Given the description of an element on the screen output the (x, y) to click on. 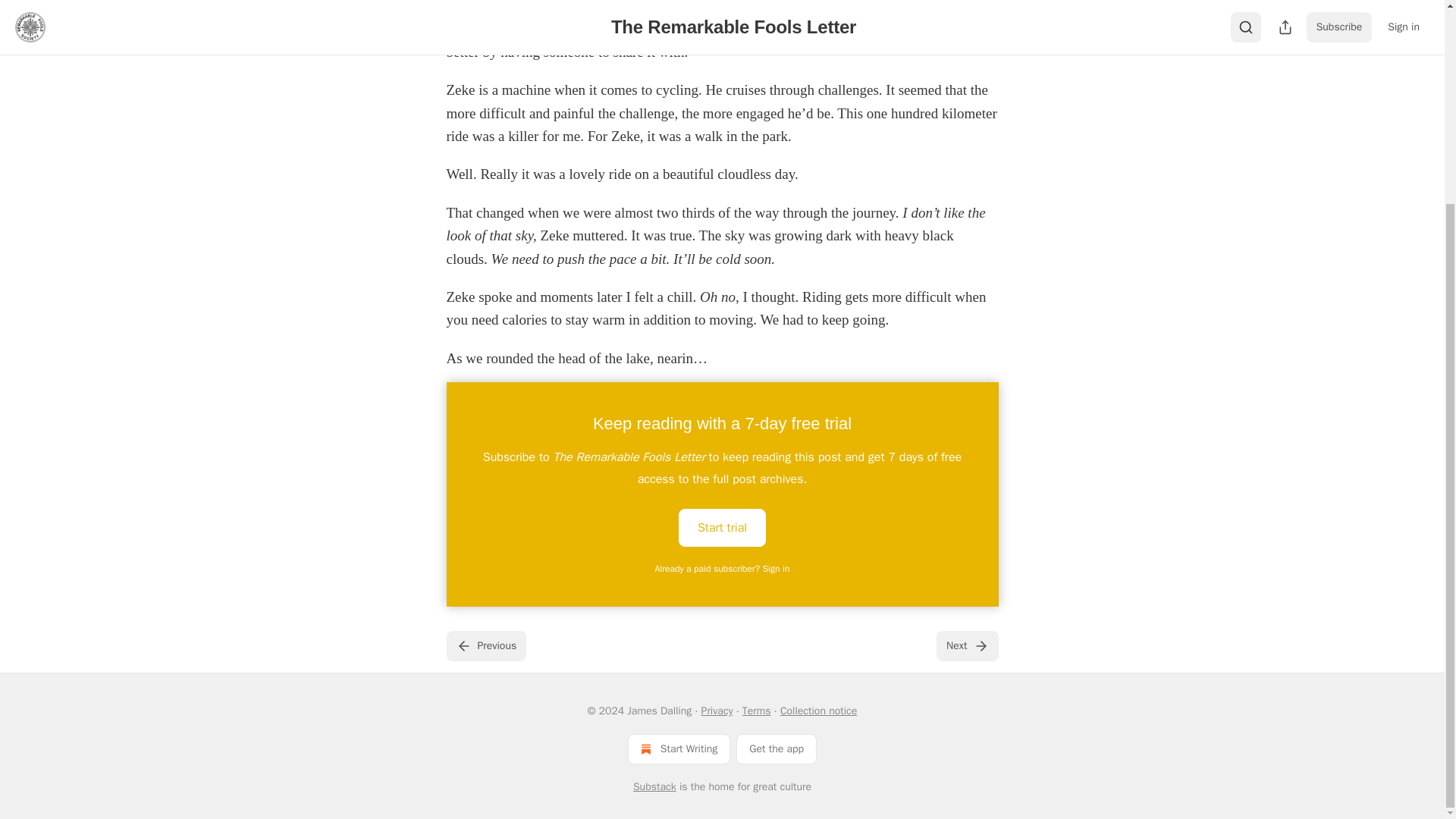
Terms (756, 710)
Collection notice (818, 710)
Next (966, 645)
Start trial (721, 526)
Substack (655, 786)
Start Writing (678, 748)
Privacy (717, 710)
Get the app (776, 748)
Already a paid subscriber? Sign in (722, 568)
Previous (485, 645)
Start trial (721, 527)
